Given the description of an element on the screen output the (x, y) to click on. 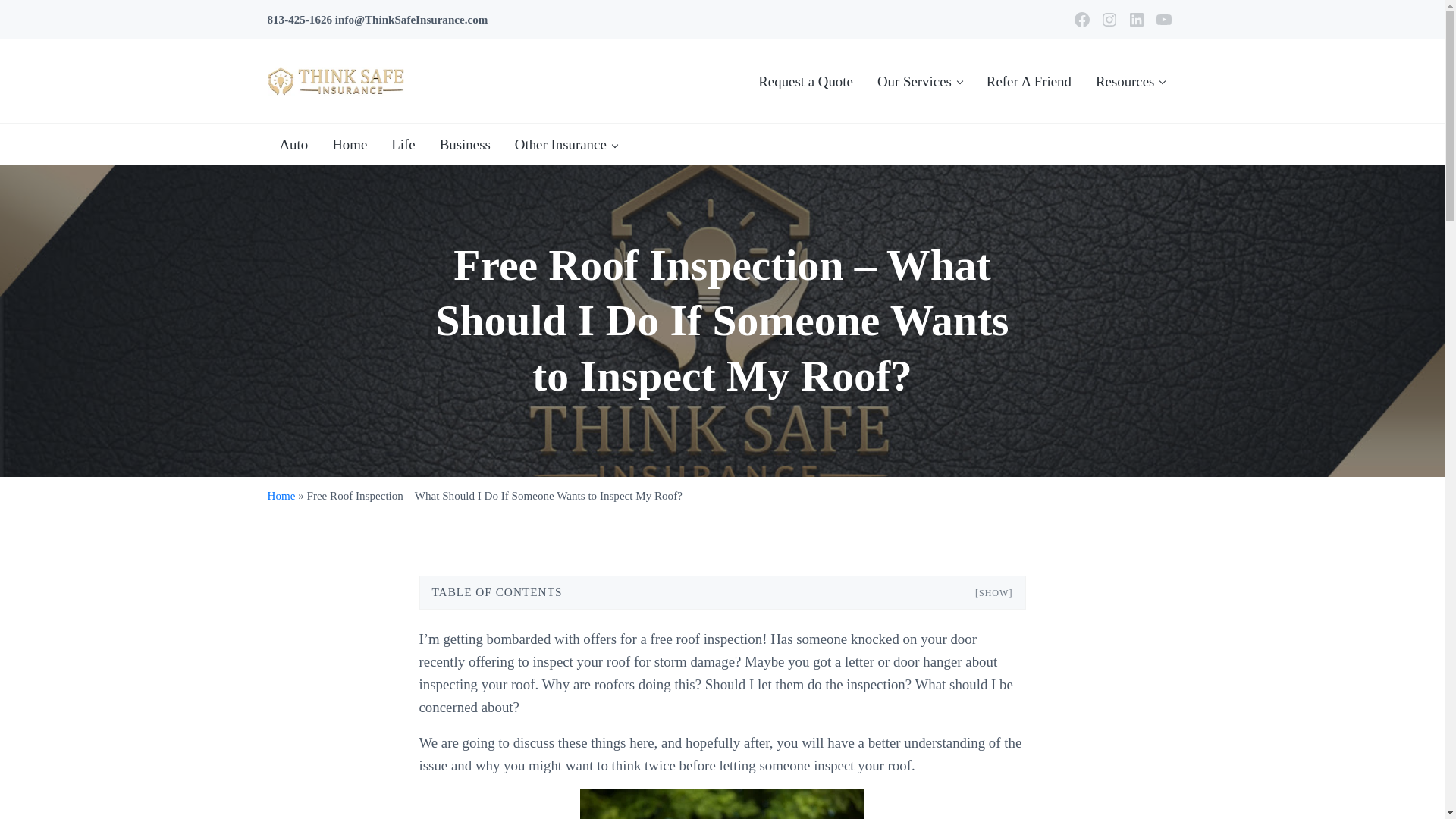
Request a Quote (804, 81)
Home (349, 144)
Resources (1130, 81)
YouTube (1163, 19)
Instagram (1108, 19)
Life (402, 144)
Auto (293, 144)
LinkedIn (1136, 19)
Other Insurance (565, 144)
Our Services (919, 81)
Refer A Friend (1028, 81)
Business (465, 144)
Facebook (1080, 19)
